Given the description of an element on the screen output the (x, y) to click on. 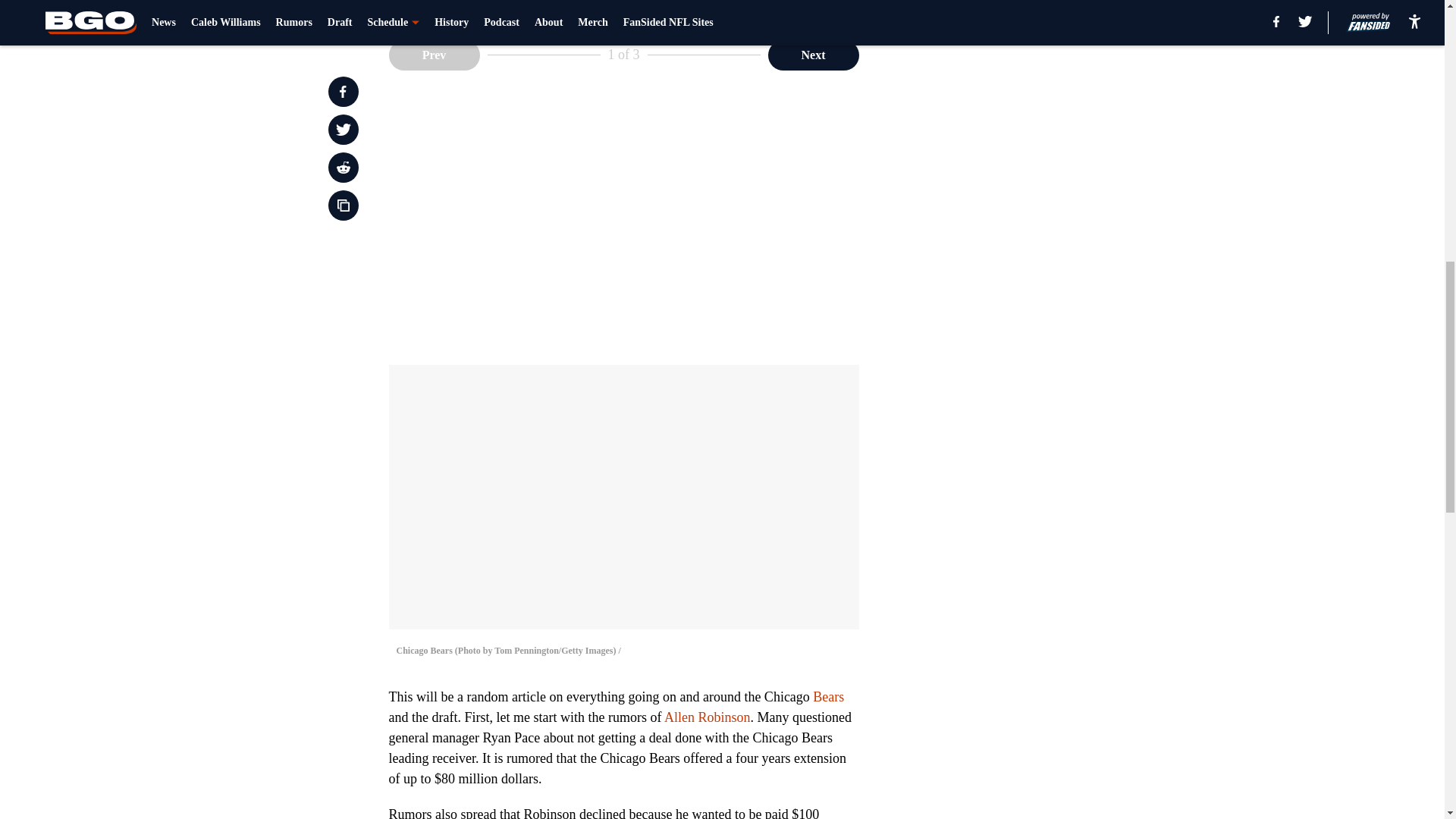
Next (813, 54)
Prev (433, 54)
Allen Robinson (707, 717)
Bears (828, 696)
